Given the description of an element on the screen output the (x, y) to click on. 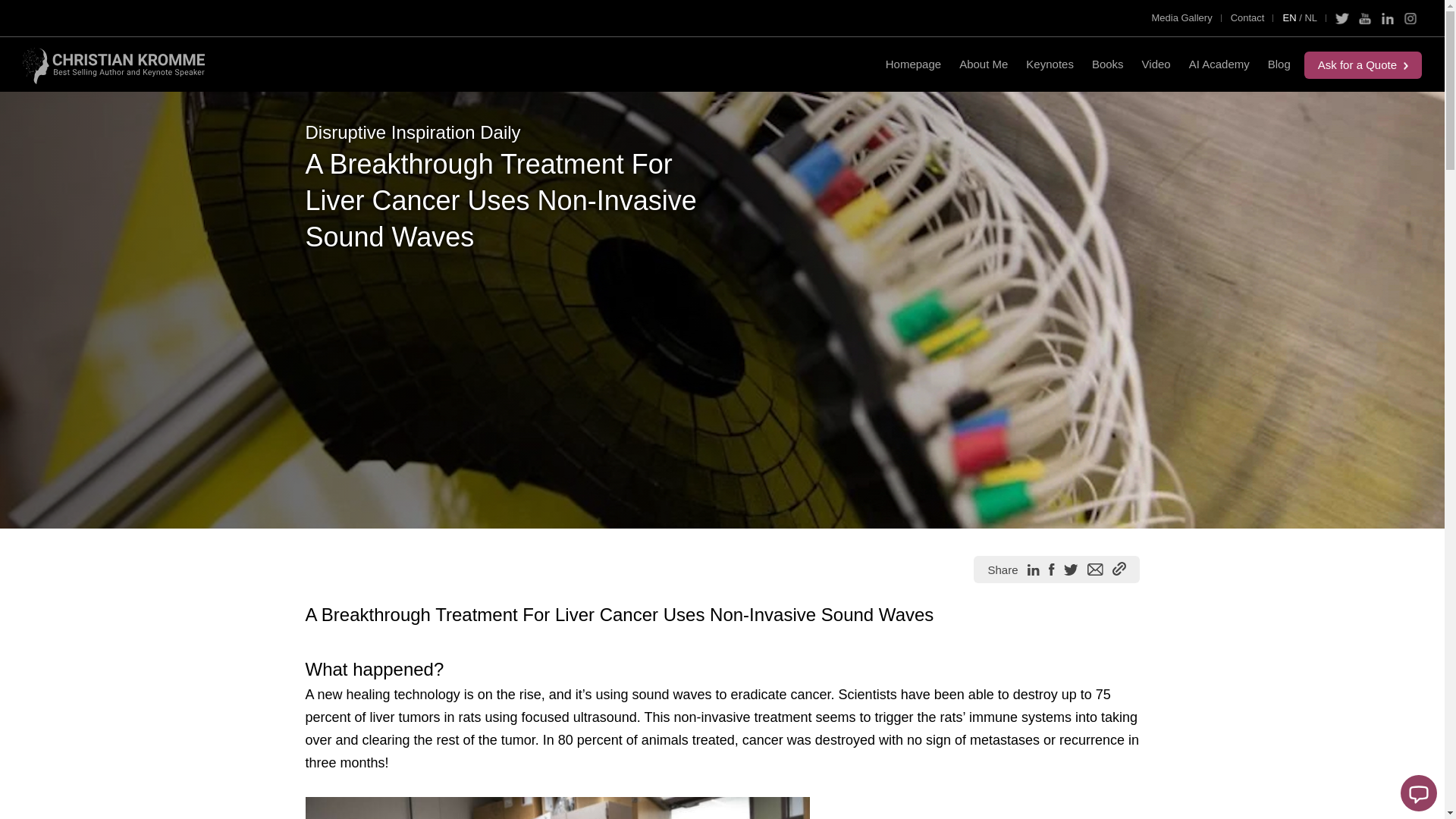
Ask for a Quote (1363, 64)
Contact Christian Kromme (1247, 17)
Logo Christian Kromme (114, 65)
AI Academy (1219, 64)
NL (1315, 17)
Media Gallery Download (1181, 17)
Contact (1247, 17)
Inspiring Keynotes (1049, 64)
Ask for a Quote   (1363, 64)
About Me (983, 64)
Disruptive AI Inspiration  (1279, 64)
Media Gallery (1181, 17)
EN (1283, 17)
Blog (1279, 64)
Keynotes (1049, 64)
